Given the description of an element on the screen output the (x, y) to click on. 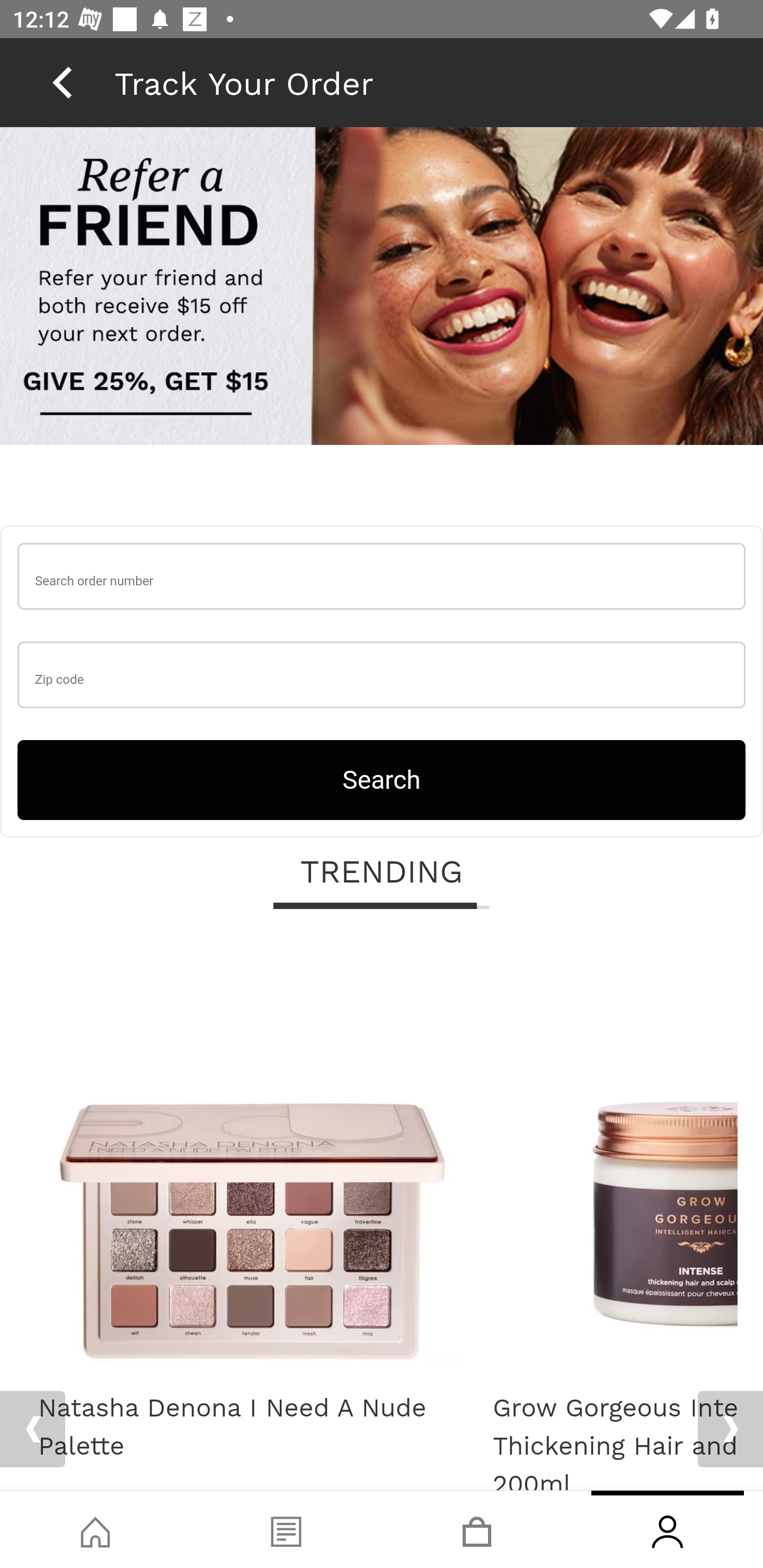
back (61, 82)
raf (381, 288)
Search (381, 779)
TRENDING (381, 874)
Natasha Denona I Need A Nude Palette (252, 1156)
Natasha Denona I Need A Nude Palette (252, 1428)
Previous (32, 1428)
Next (730, 1428)
Shop, tab, 1 of 4 (95, 1529)
Blog, tab, 2 of 4 (285, 1529)
Basket, tab, 3 of 4 (476, 1529)
Account, tab, 4 of 4 (667, 1529)
